Given the description of an element on the screen output the (x, y) to click on. 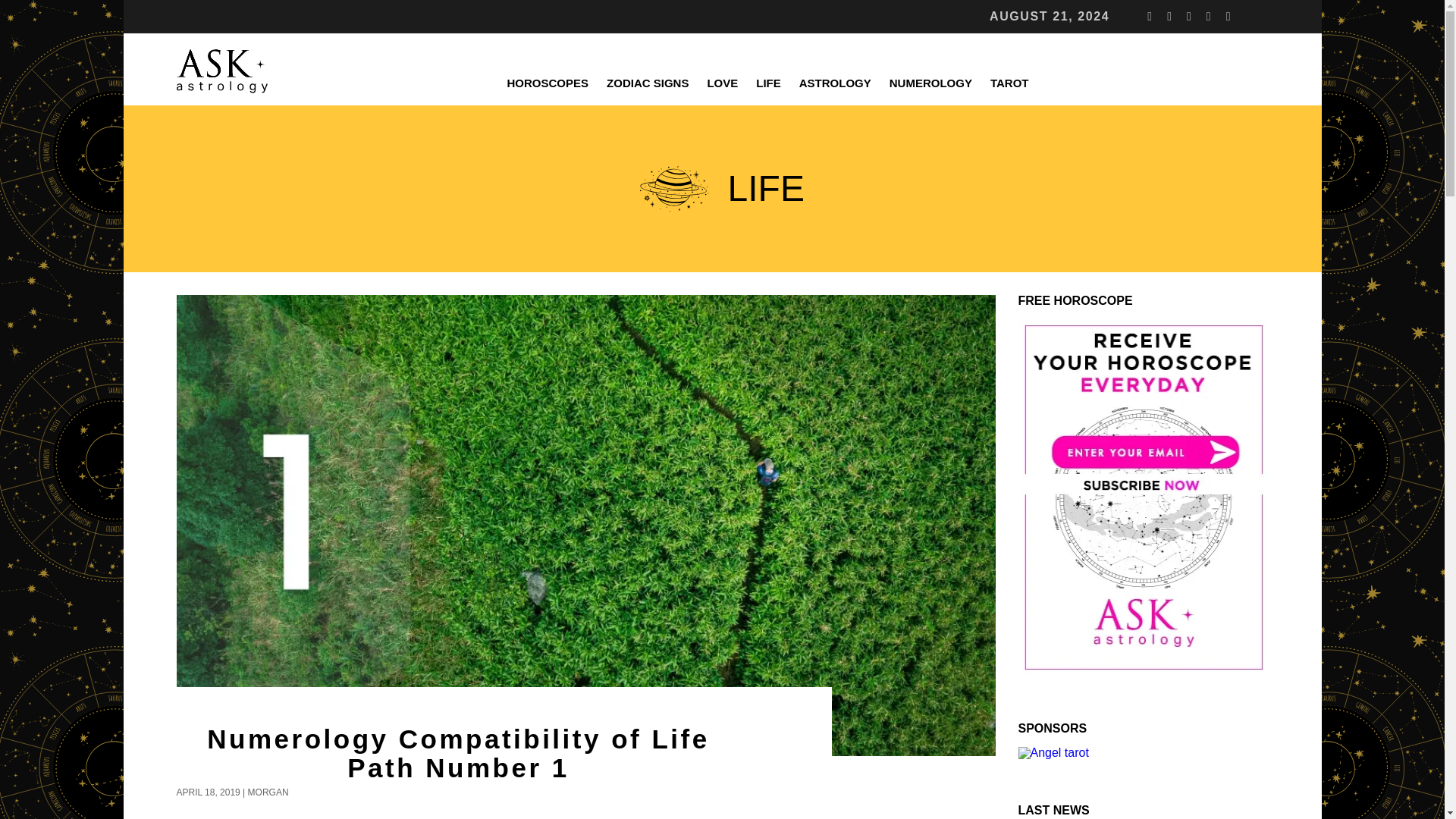
ZODIAC SIGNS (646, 82)
AUGUST 21, 2024 (1049, 16)
HOROSCOPES (547, 82)
